Given the description of an element on the screen output the (x, y) to click on. 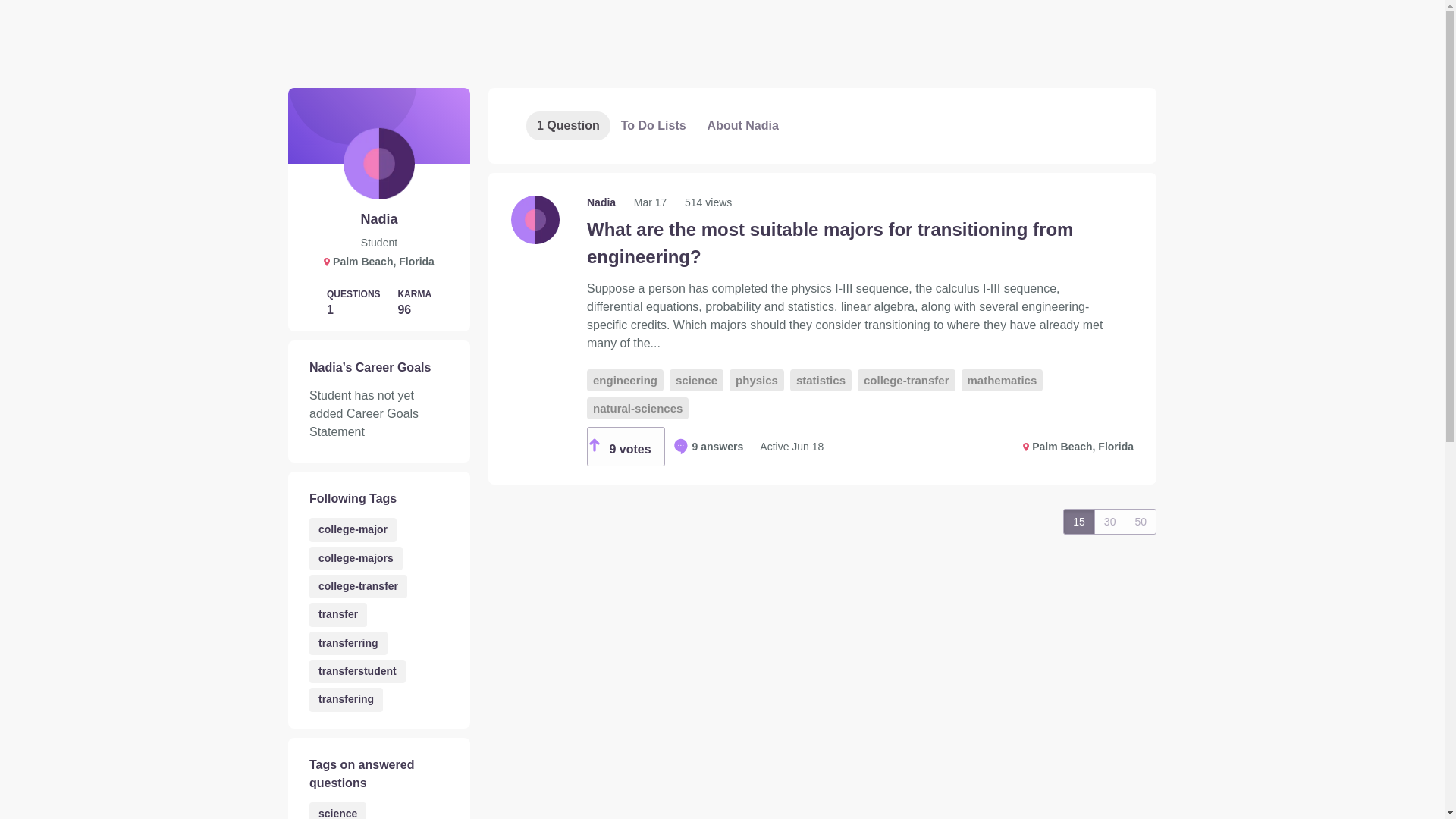
science (337, 810)
See Career Questions tagged 'Transferstudent' (357, 671)
science (696, 380)
See Career Questions tagged 'College Major' (352, 529)
See Career Questions tagged 'Science' (337, 810)
college-major (352, 529)
transfer (337, 614)
physics (756, 380)
college-majors (355, 558)
See Career Questions tagged 'Transfer' (337, 614)
natural-sciences (637, 408)
See Career Questions tagged 'Transferring' (347, 643)
See Career Questions tagged 'College Majors' (355, 558)
Nadia (602, 202)
